Given the description of an element on the screen output the (x, y) to click on. 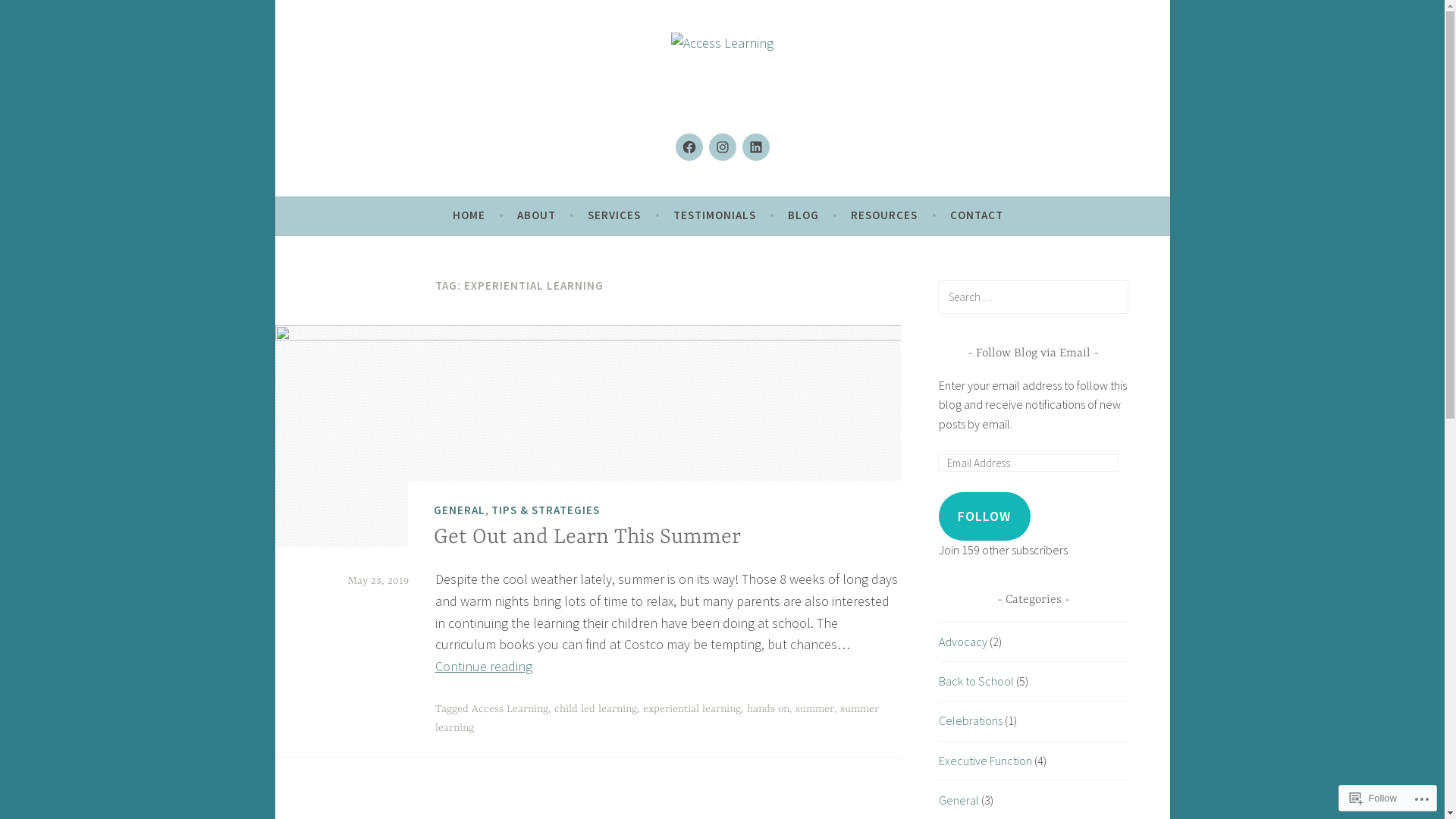
Search Element type: text (33, 15)
summer Element type: text (813, 708)
TIPS & STRATEGIES Element type: text (545, 510)
RESOURCES Element type: text (883, 215)
hands on Element type: text (767, 708)
ABOUT Element type: text (536, 215)
BLOG Element type: text (803, 215)
Celebrations Element type: text (970, 720)
General Element type: text (958, 799)
summer learning Element type: text (656, 718)
Access Learning Element type: text (509, 708)
Get Out and Learn This Summer Element type: text (586, 537)
Access Learning Element type: text (428, 156)
experiential learning Element type: text (691, 708)
Back to School Element type: text (975, 680)
Follow Element type: text (1372, 797)
GENERAL Element type: text (459, 510)
SERVICES Element type: text (613, 215)
Continue reading Element type: text (483, 665)
Advocacy Element type: text (962, 641)
FOLLOW Element type: text (984, 516)
CONTACT Element type: text (976, 215)
child led learning Element type: text (594, 708)
TESTIMONIALS Element type: text (714, 215)
Executive Function Element type: text (985, 760)
May 23, 2019 Element type: text (377, 580)
HOME Element type: text (468, 215)
